Given the description of an element on the screen output the (x, y) to click on. 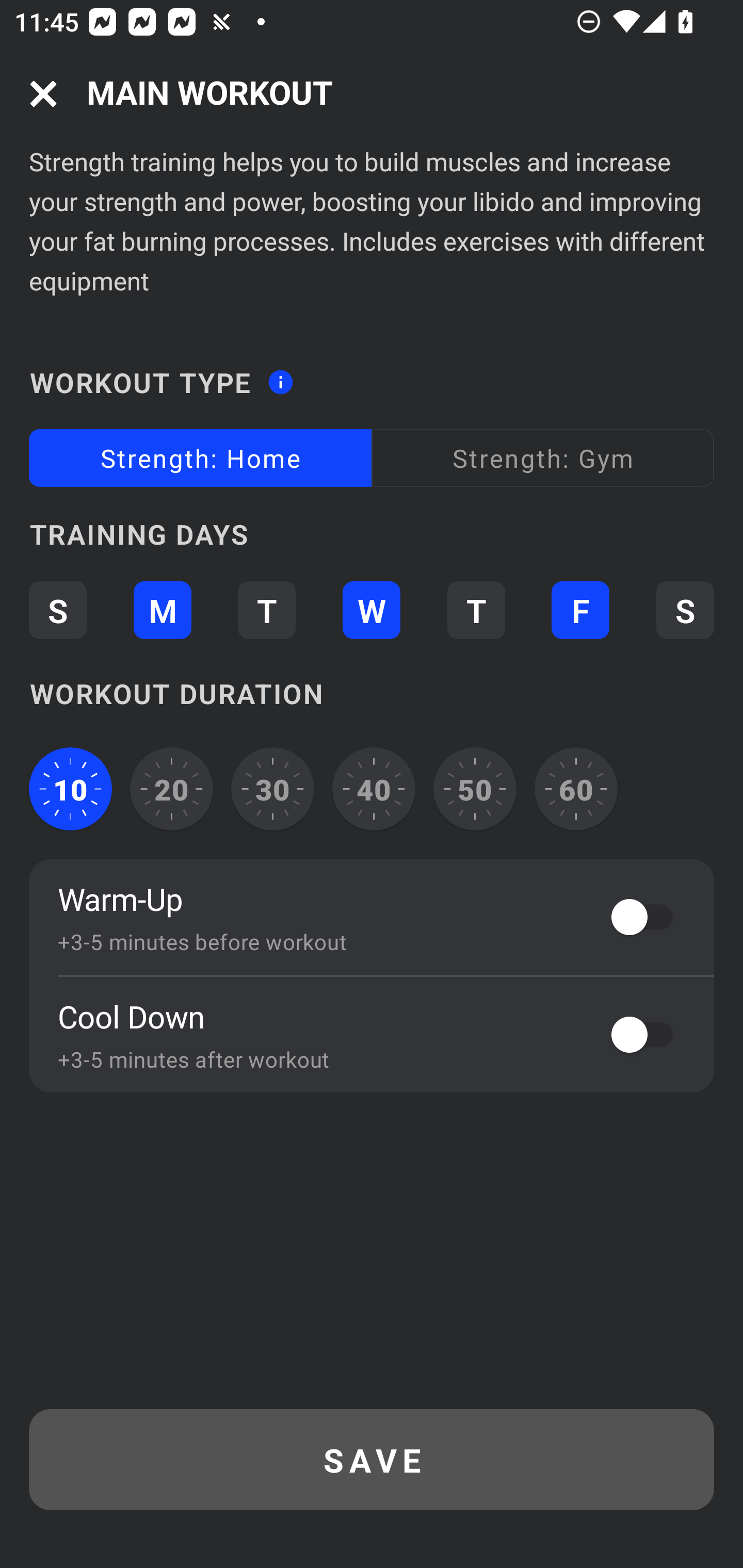
Navigation icon (43, 93)
Workout type information button (280, 375)
Strength: Home (199, 457)
Strength: Gym (542, 457)
S (57, 610)
T (266, 610)
T (476, 610)
S (684, 610)
10 (70, 789)
20 (171, 789)
30 (272, 789)
40 (373, 789)
50 (474, 789)
60 (575, 789)
SAVE (371, 1459)
